Given the description of an element on the screen output the (x, y) to click on. 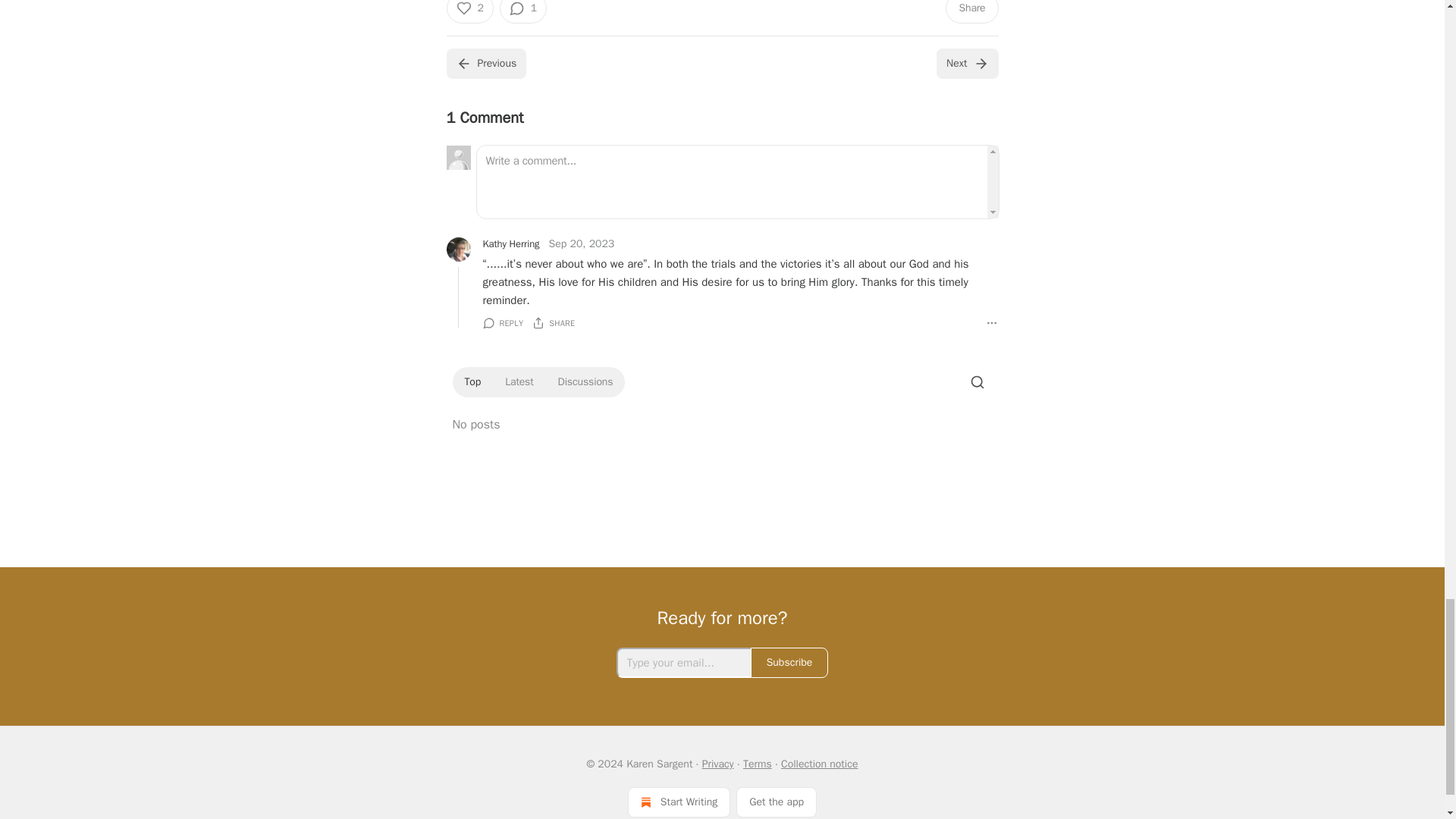
Share (970, 11)
REPLY (501, 322)
2 (469, 11)
Kathy Herring (509, 243)
Next (966, 63)
Previous (485, 63)
SHARE (553, 322)
Sep 20, 2023 (581, 243)
1 (523, 11)
